Given the description of an element on the screen output the (x, y) to click on. 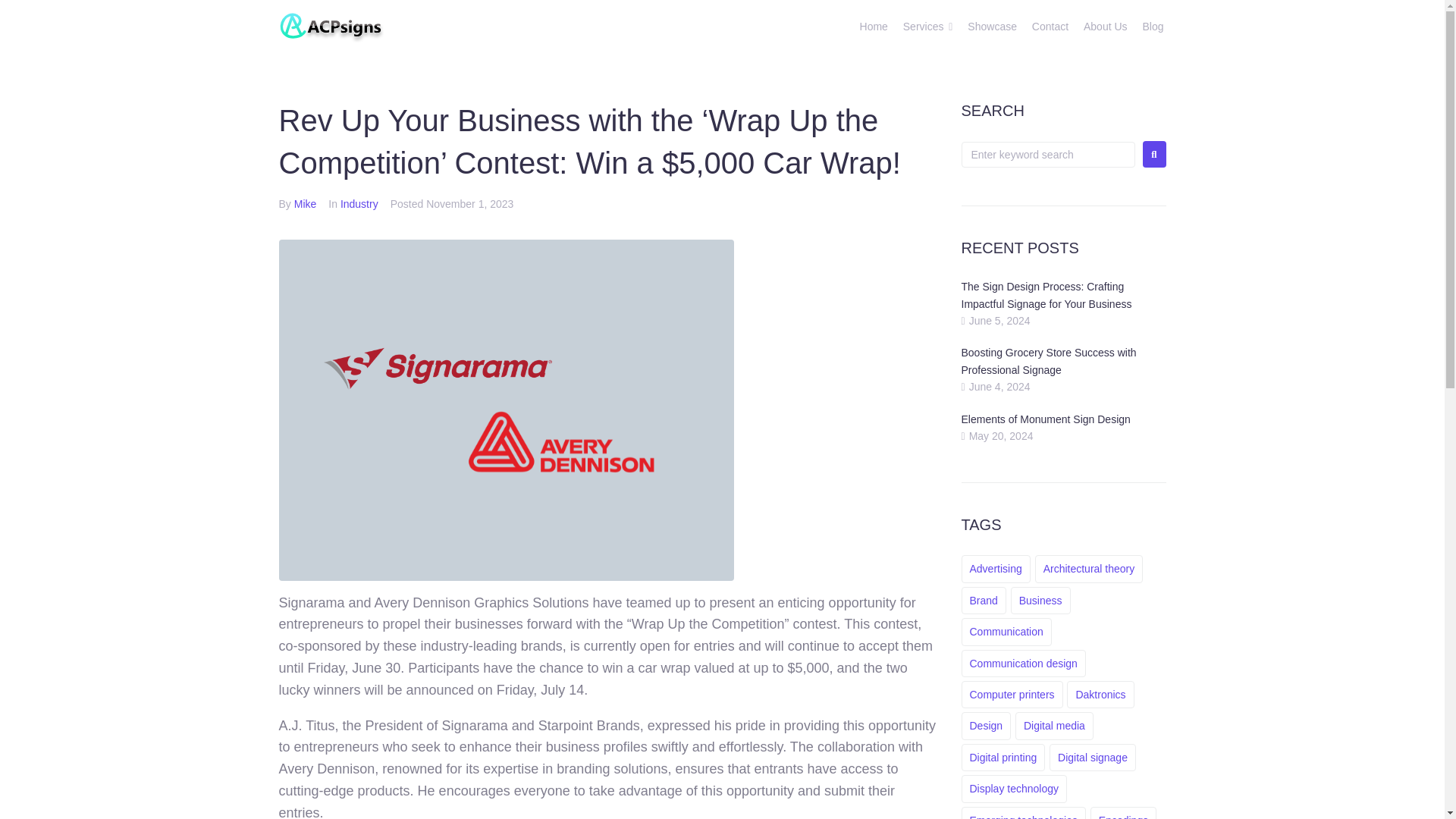
About Us (1104, 27)
Elements of Monument Sign Design (1045, 419)
Mike (305, 203)
Home (874, 27)
Blog (1152, 27)
Services (922, 27)
Showcase (992, 27)
Boosting Grocery Store Success with Professional Signage (1048, 360)
Architectural theory (1088, 568)
Contact (1050, 27)
Industry (359, 203)
Advertising (995, 568)
